Given the description of an element on the screen output the (x, y) to click on. 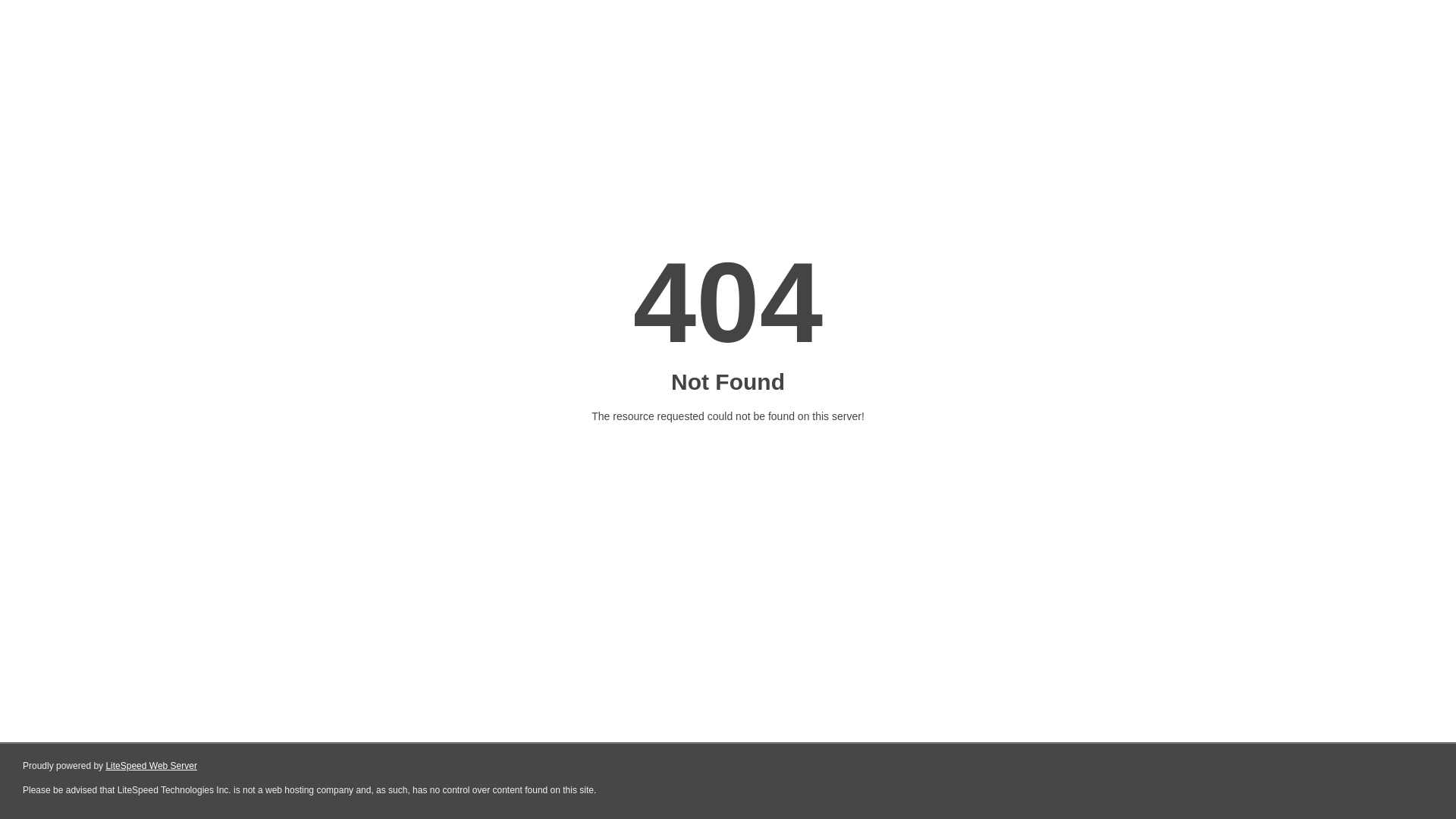
LiteSpeed Web Server (150, 765)
